Given the description of an element on the screen output the (x, y) to click on. 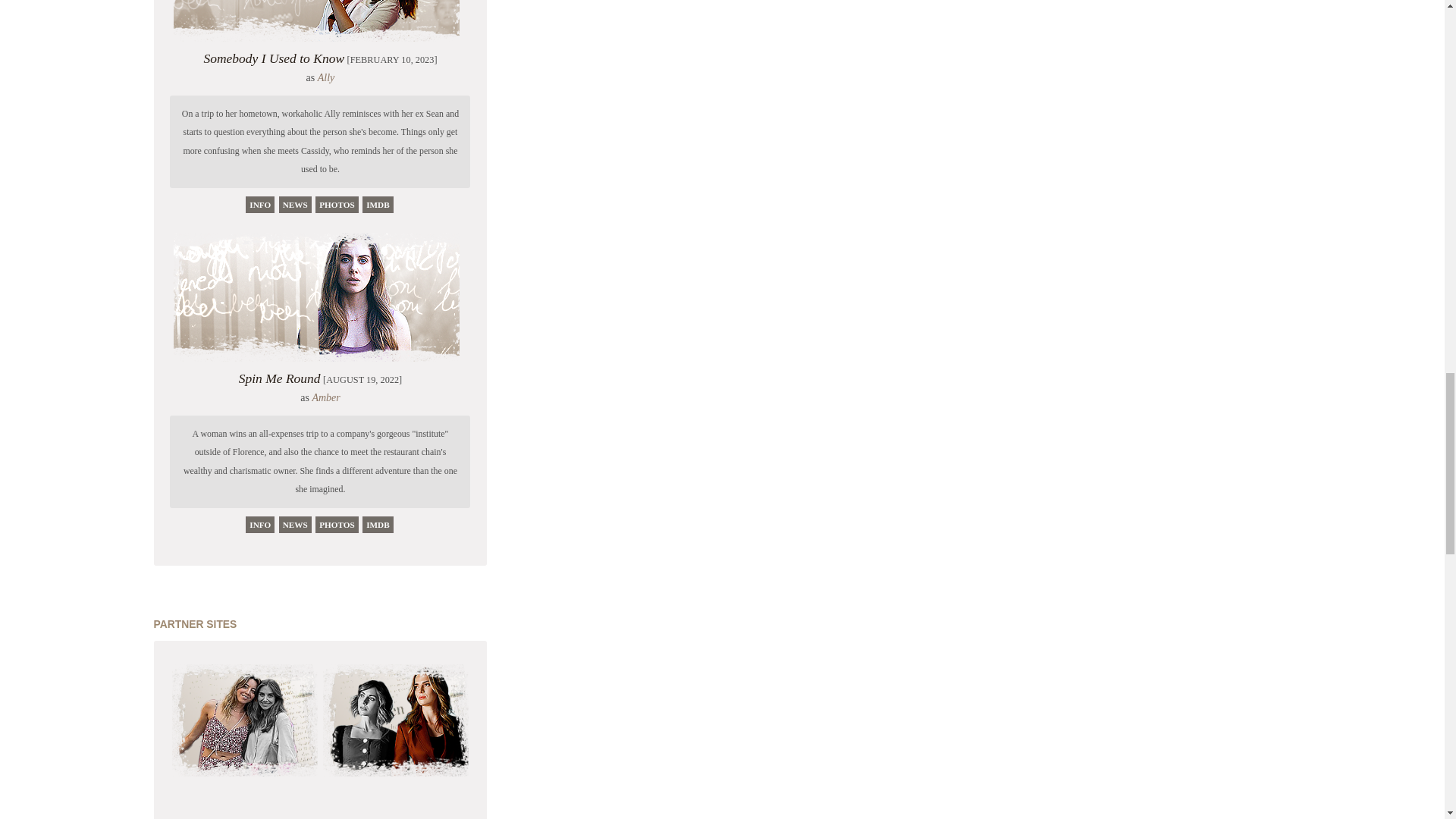
IMDB (377, 204)
PHOTOS (336, 524)
INFO (260, 204)
PHOTOS (336, 204)
NEWS (295, 204)
IMDB (377, 524)
INFO (260, 524)
NEWS (295, 524)
